Given the description of an element on the screen output the (x, y) to click on. 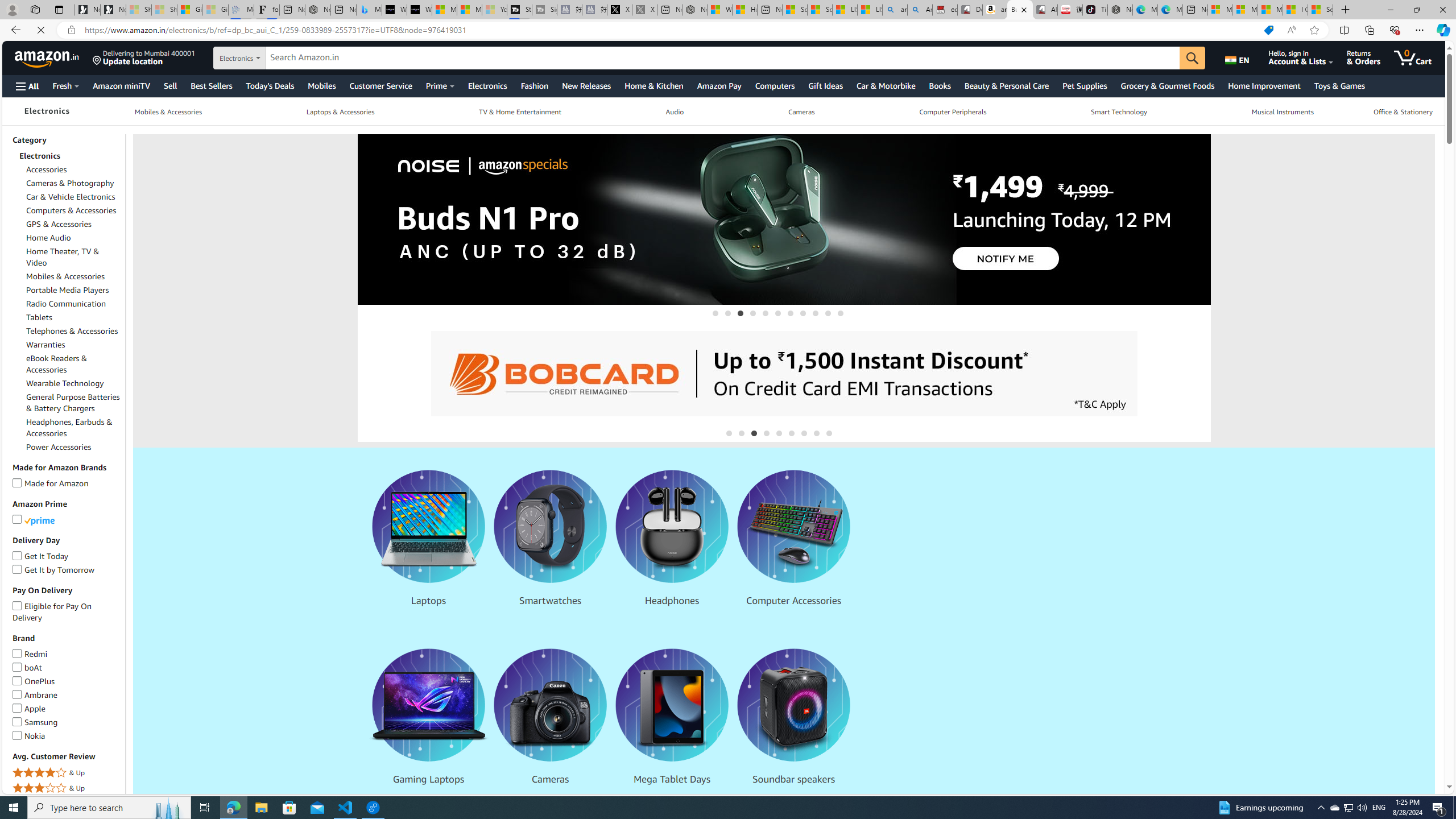
Today's Deals (269, 85)
I Gained 20 Pounds of Muscle in 30 Days! | Watch (1295, 9)
X - Sleeping (644, 9)
Microsoft Bing Travel - Shangri-La Hotel Bangkok (368, 9)
Amazon Echo Dot PNG - Search Images (919, 9)
Search Amazon.in (723, 57)
Streaming Coverage | T3 (519, 9)
New Releases (585, 85)
